Given the description of an element on the screen output the (x, y) to click on. 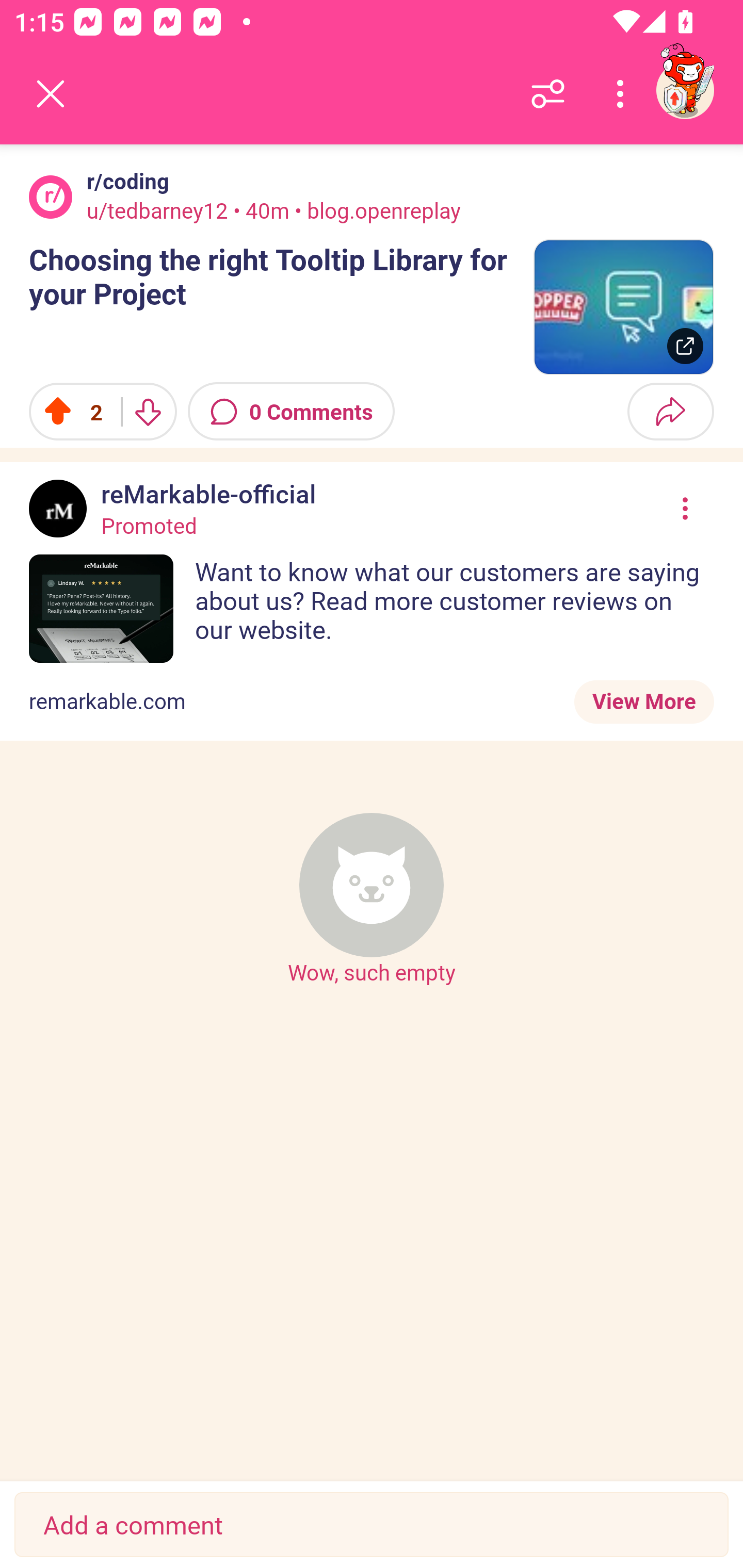
Back (50, 93)
TestAppium002 account (685, 90)
Sort comments (547, 93)
More options (623, 93)
r/coding (124, 181)
Avatar (50, 196)
u/tedbarney12 (157, 210)
 • blog.openreplay (375, 210)
Thumbnail image (623, 306)
Upvote 2 Downvote 0 Comments Share (371, 411)
Downvote (146, 411)
0 Comments (290, 411)
Share (670, 411)
Add a comment (371, 1524)
